Given the description of an element on the screen output the (x, y) to click on. 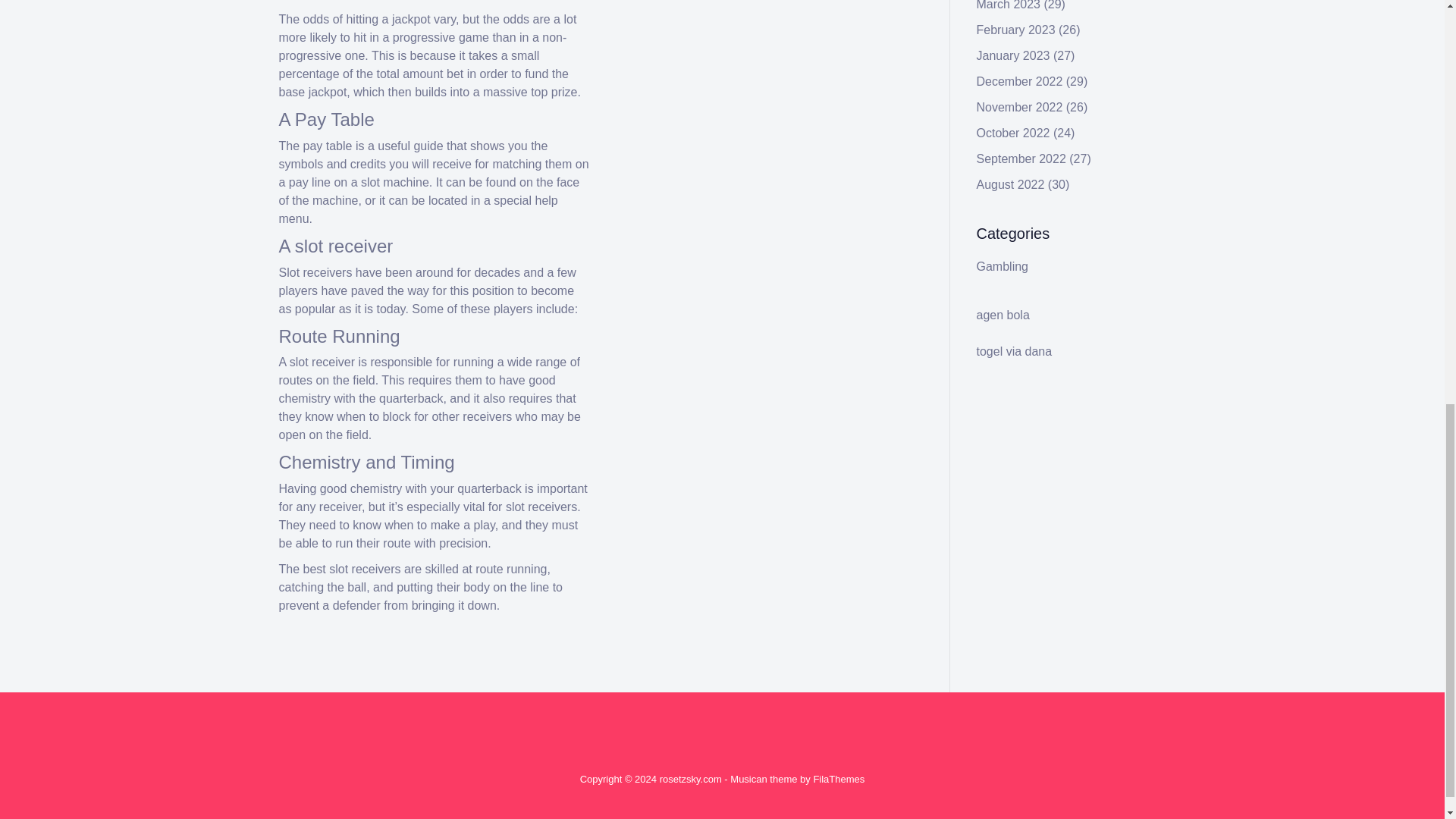
agen bola (1002, 314)
September 2022 (1020, 158)
February 2023 (1015, 29)
March 2023 (1008, 5)
rosetzsky.com (690, 778)
November 2022 (1019, 106)
Gambling (1001, 266)
August 2022 (1010, 184)
December 2022 (1019, 81)
January 2023 (1012, 55)
togel via dana (1014, 350)
October 2022 (1012, 132)
